Given the description of an element on the screen output the (x, y) to click on. 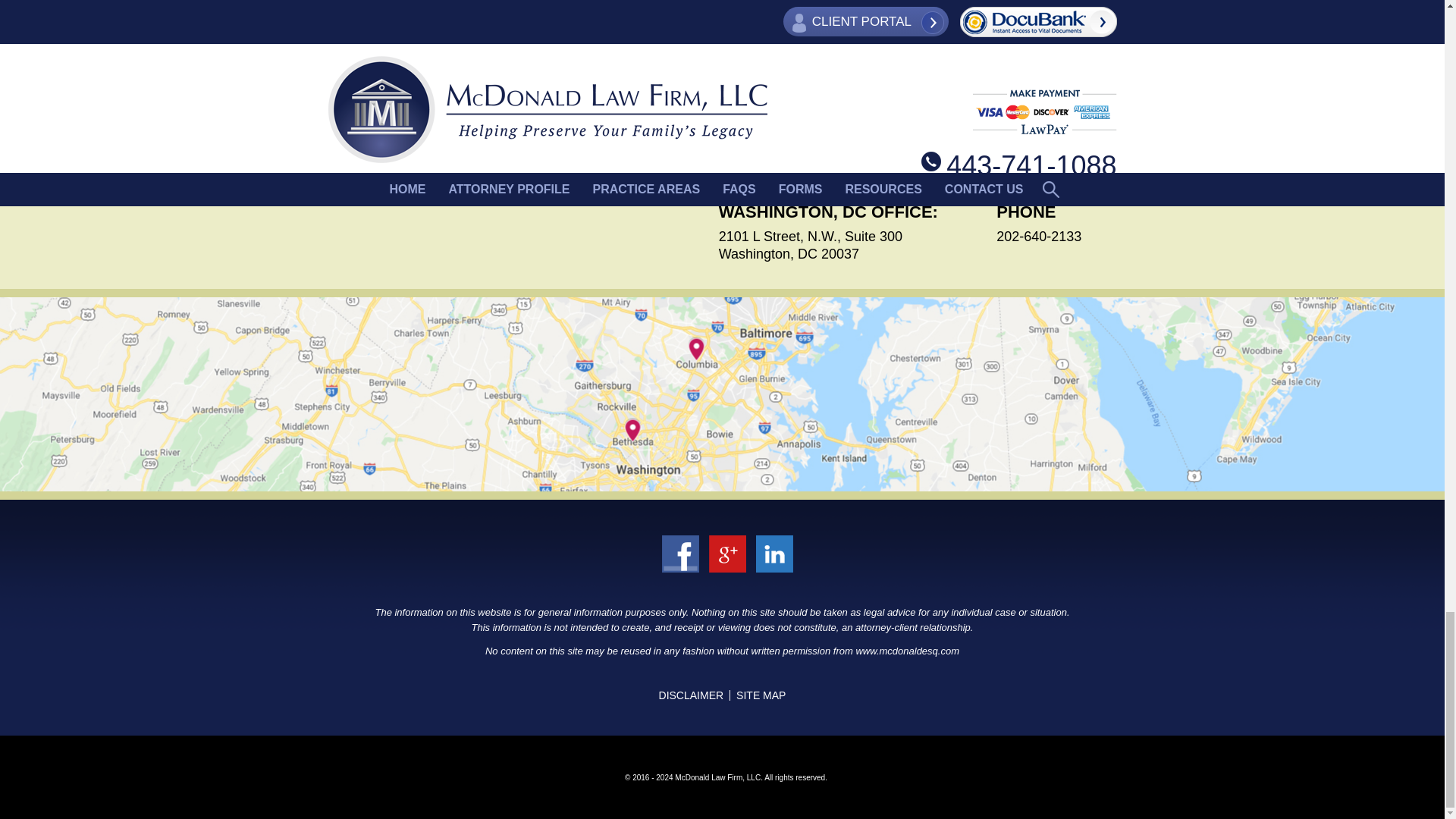
linkedin (717, 572)
